Given the description of an element on the screen output the (x, y) to click on. 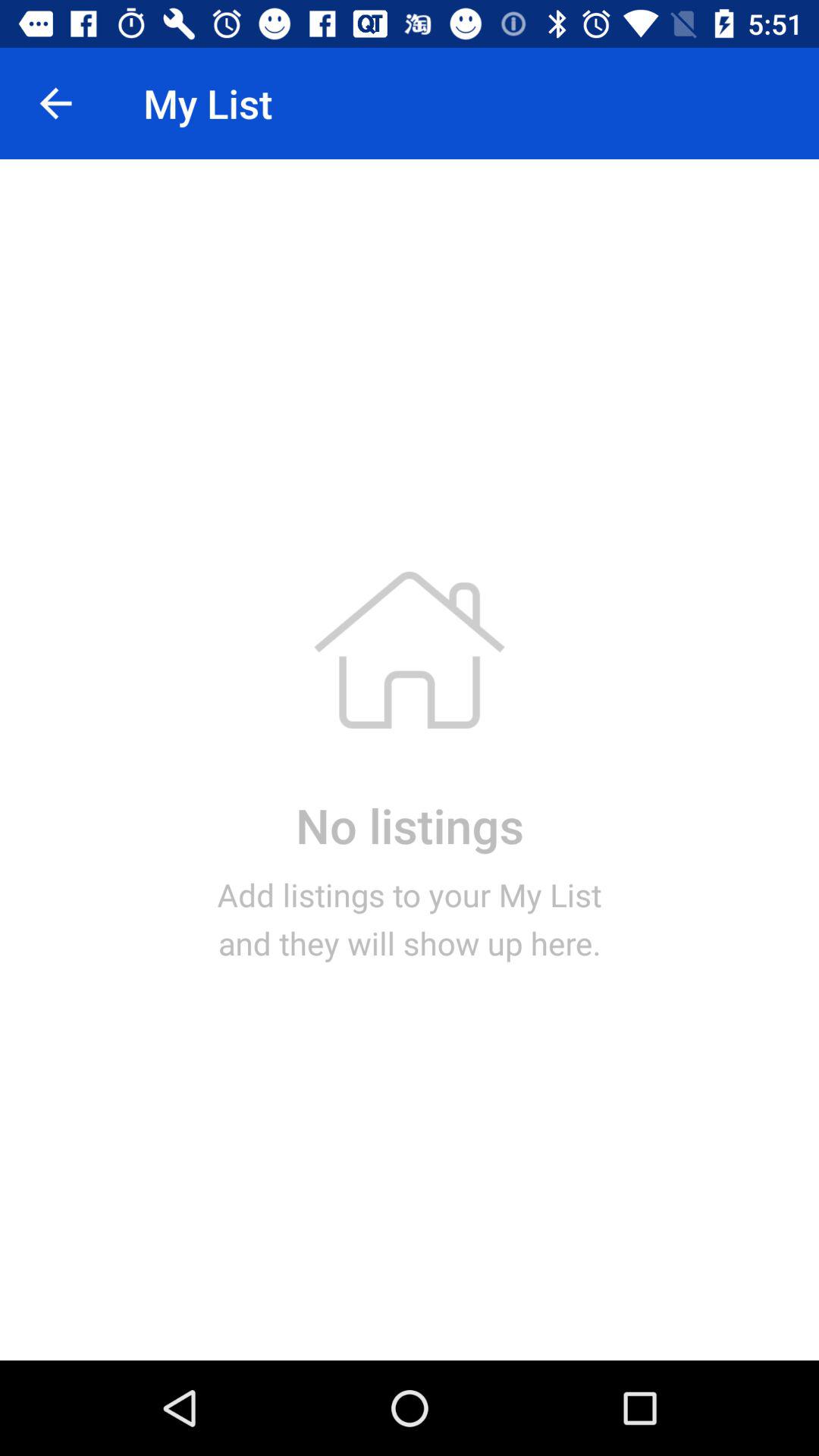
tap the icon above the no listings item (55, 103)
